Given the description of an element on the screen output the (x, y) to click on. 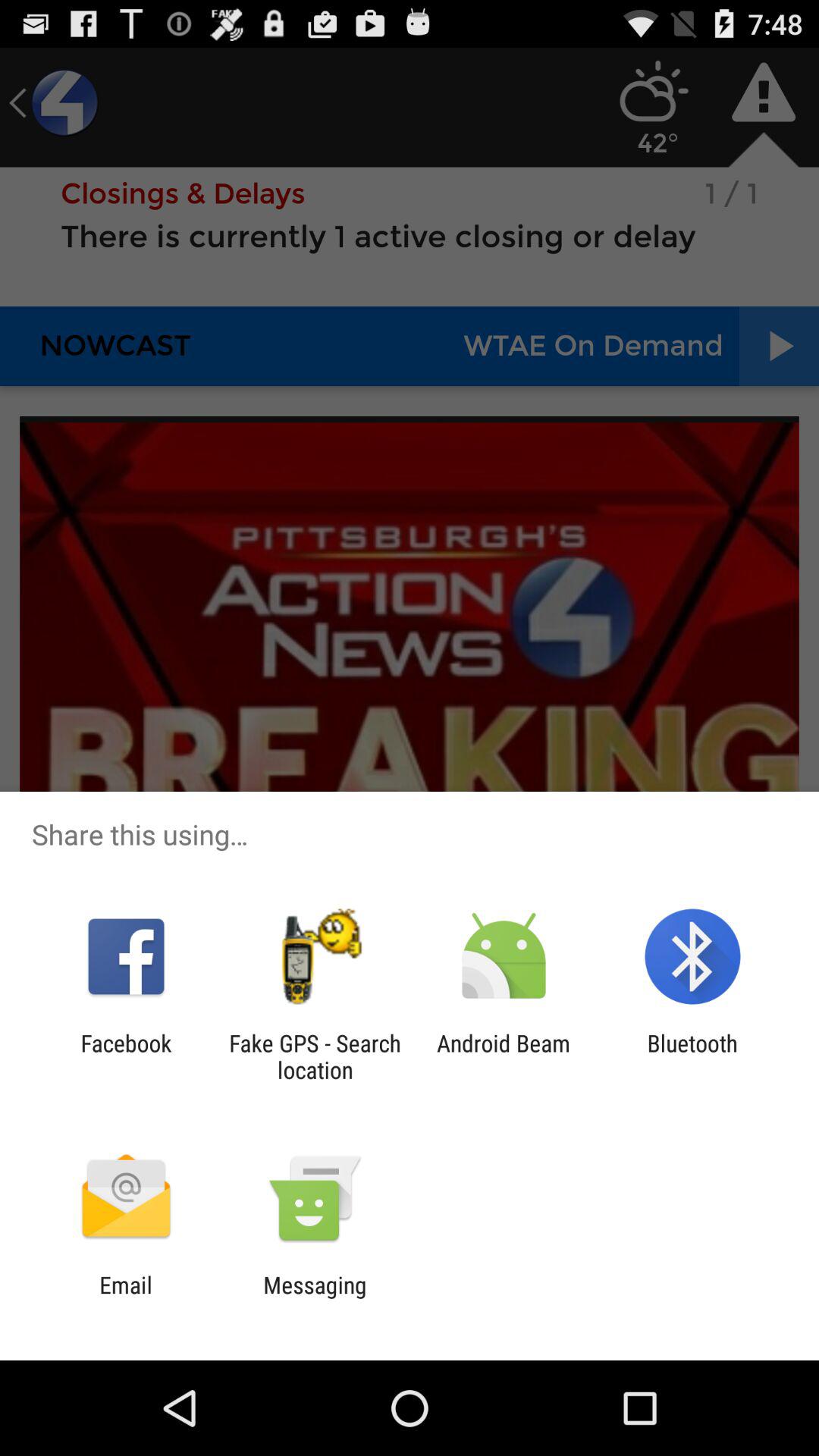
turn off item next to the android beam (314, 1056)
